Given the description of an element on the screen output the (x, y) to click on. 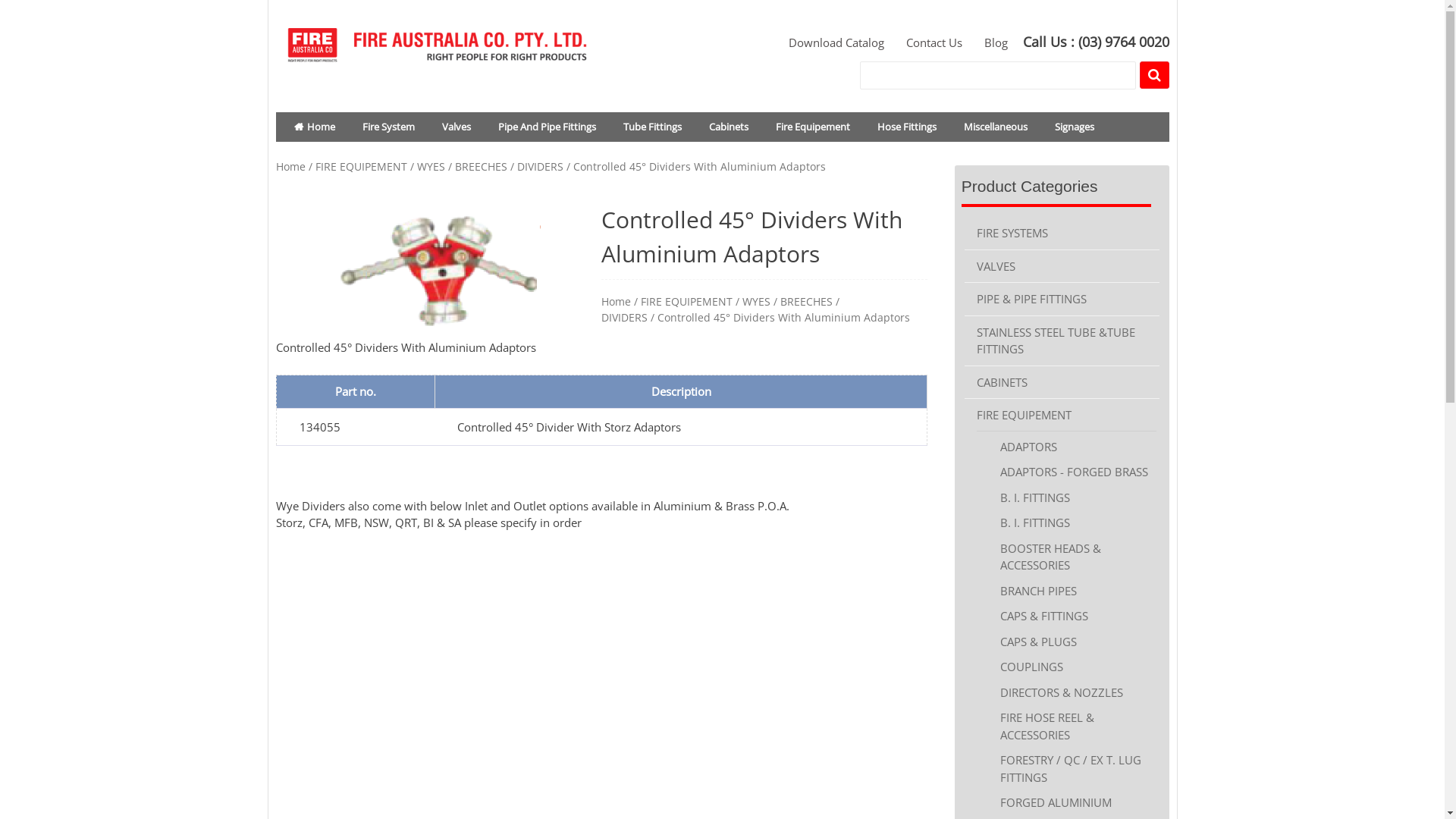
WYES / BREECHES / DIVIDERS Element type: text (720, 309)
FIRE HOSE REEL & ACCESSORIES Element type: text (1047, 725)
B. I. FITTINGS Element type: text (1035, 522)
WYES / BREECHES / DIVIDERS Element type: text (490, 166)
Valves Element type: text (455, 126)
BRANCH PIPES Element type: text (1038, 590)
PIPE & PIPE FITTINGS Element type: text (1031, 298)
Pipe And Pipe Fittings Element type: text (545, 126)
Home Element type: text (290, 166)
COUPLINGS Element type: text (1031, 666)
Blog Element type: text (987, 42)
Download Catalog Element type: text (827, 42)
DIRECTORS & NOZZLES Element type: text (1061, 691)
FIRE SYSTEMS Element type: text (1012, 236)
VALVES Element type: text (995, 265)
Miscellaneous Element type: text (994, 126)
Tube Fittings Element type: text (652, 126)
Fire Equipement Element type: text (811, 126)
CAPS & PLUGS Element type: text (1038, 641)
CAPS & FITTINGS Element type: text (1044, 615)
ADAPTORS Element type: text (1028, 450)
FIRE EQUIPEMENT Element type: text (686, 301)
FORGED ALUMINIUM Element type: text (1055, 801)
Home Element type: text (615, 301)
FIRE EQUIPEMENT Element type: text (1023, 414)
Cabinets Element type: text (727, 126)
BOOSTER HEADS & ACCESSORIES Element type: text (1050, 556)
Home Element type: text (314, 126)
Fire System Element type: text (388, 126)
Signages Element type: text (1073, 126)
B. I. FITTINGS Element type: text (1035, 497)
Hose Fittings Element type: text (905, 126)
ADAPTORS - FORGED BRASS Element type: text (1074, 471)
FIRE EQUIPEMENT Element type: text (361, 166)
STAINLESS STEEL TUBE &TUBE FITTINGS Element type: text (1055, 340)
Contact Us Element type: text (926, 42)
CABINETS Element type: text (1001, 381)
FORESTRY / QC / EX T. LUG FITTINGS Element type: text (1070, 768)
